Given the description of an element on the screen output the (x, y) to click on. 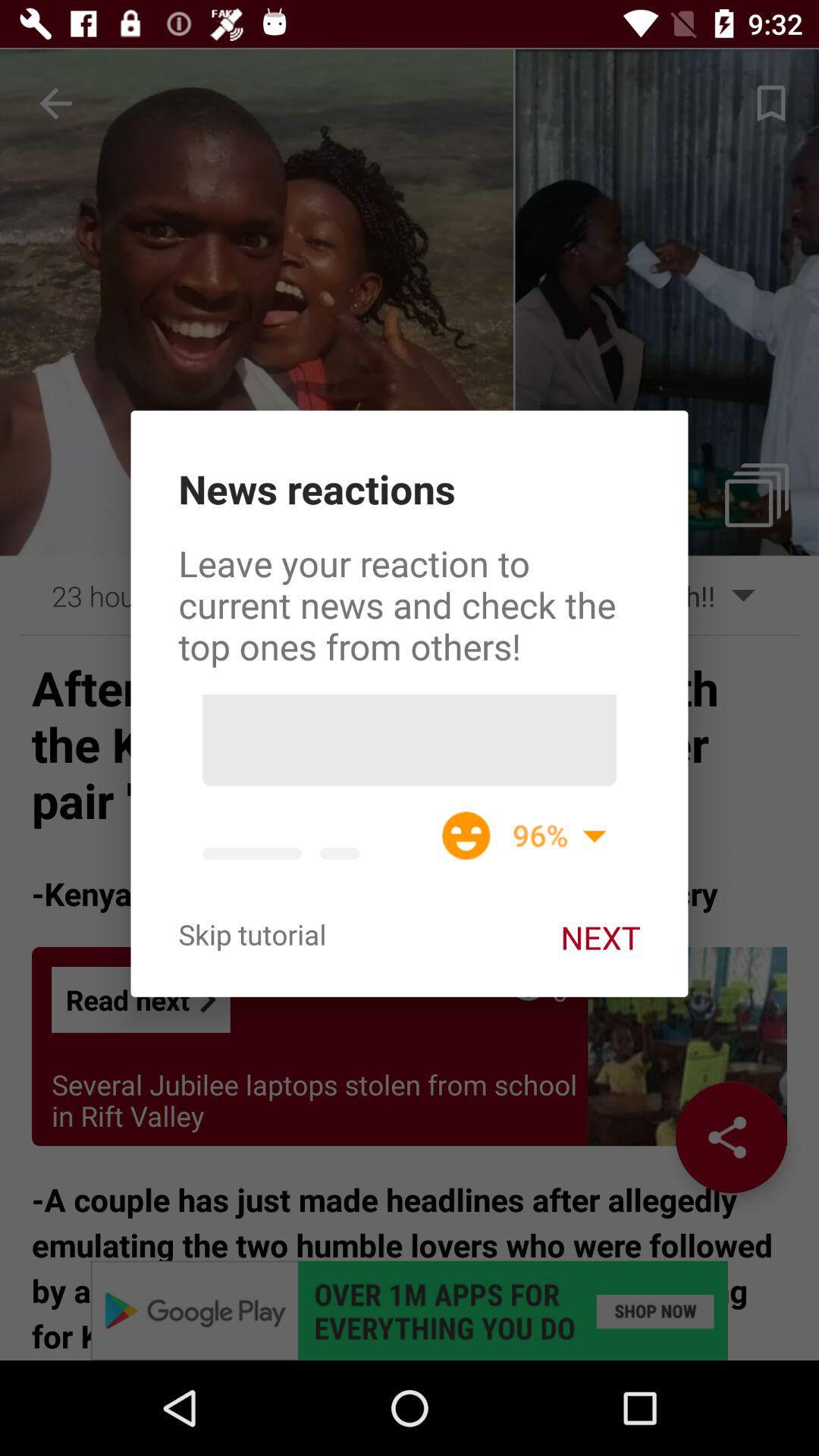
choose the icon next to next (252, 934)
